Given the description of an element on the screen output the (x, y) to click on. 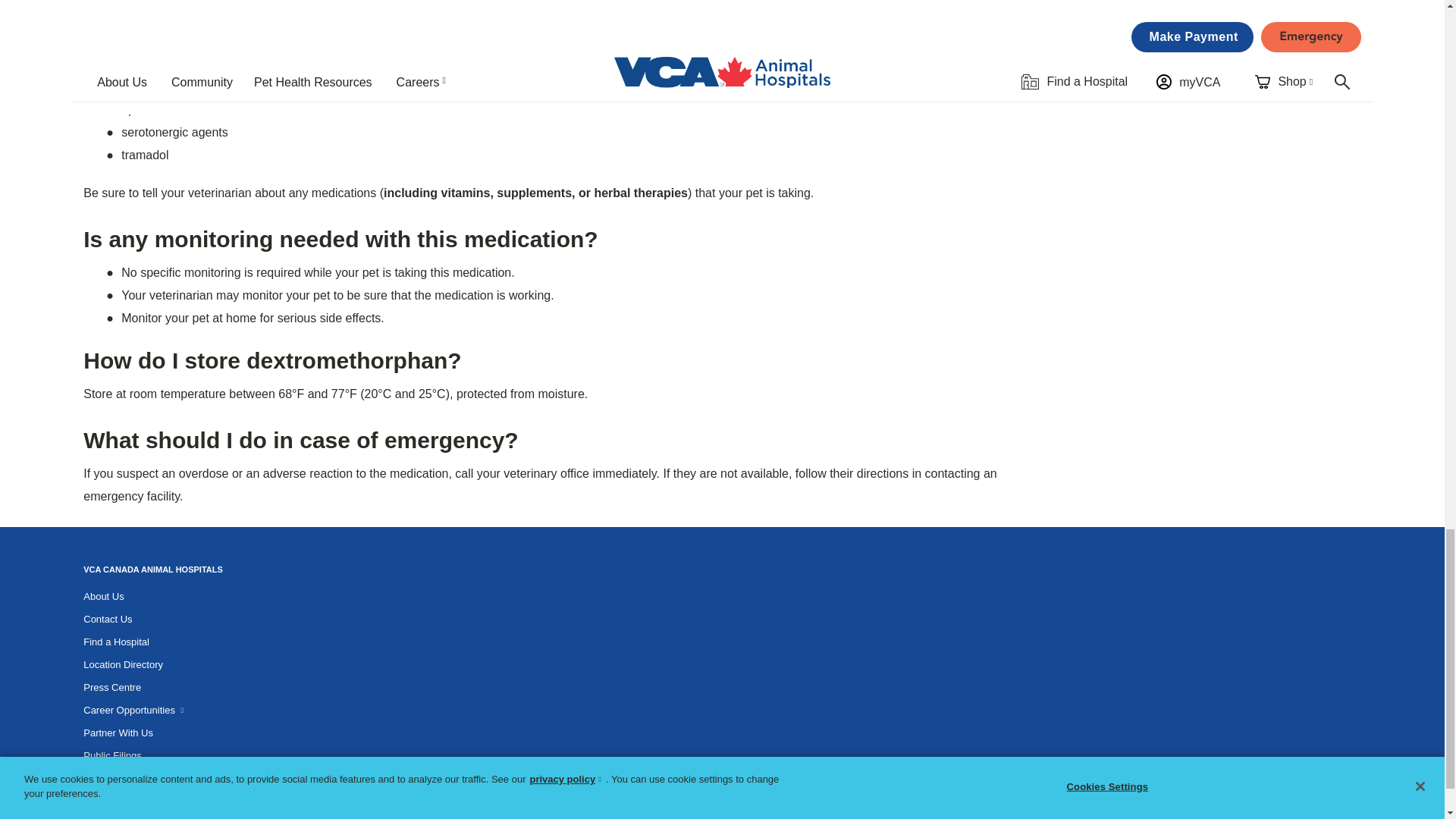
VCA CANADA ANIMAL HOSPITALS (152, 569)
Contact Us (107, 618)
About Us (102, 596)
